Given the description of an element on the screen output the (x, y) to click on. 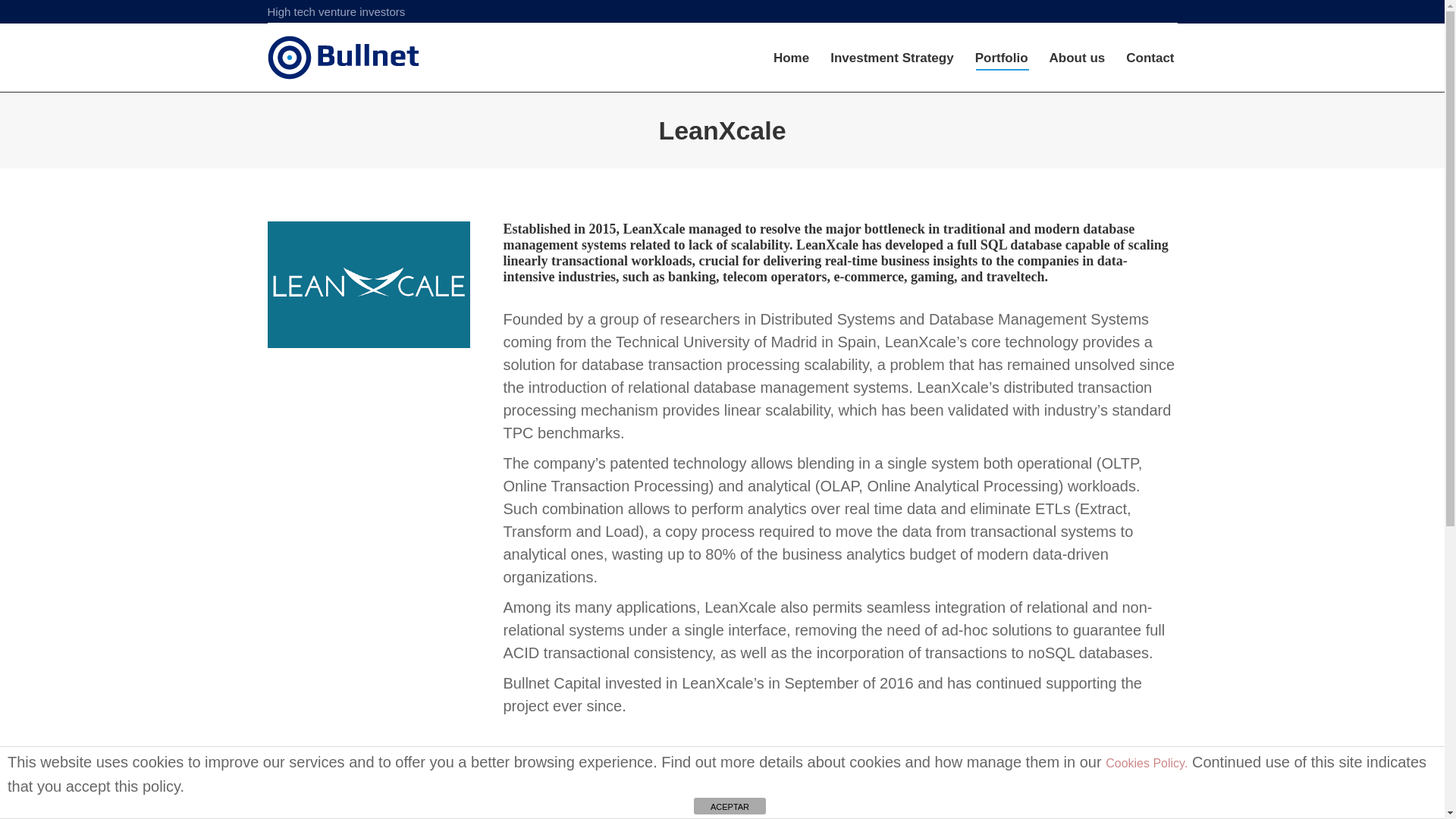
Investment Strategy (891, 56)
About us (1077, 56)
Home (791, 56)
Contact (1149, 56)
Portfolio (1001, 56)
